Given the description of an element on the screen output the (x, y) to click on. 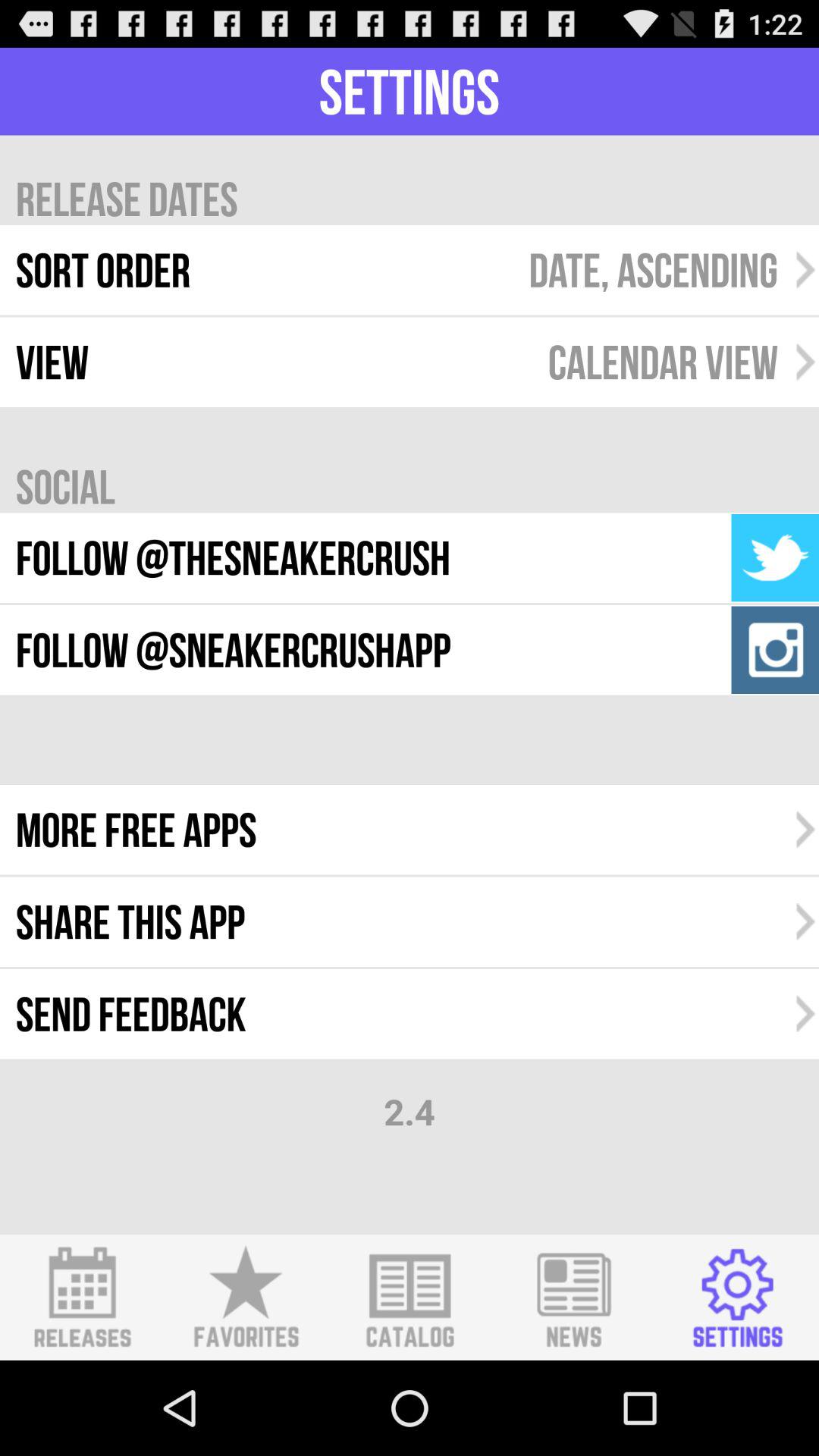
button that allows you to view the latest news (573, 1297)
